Given the description of an element on the screen output the (x, y) to click on. 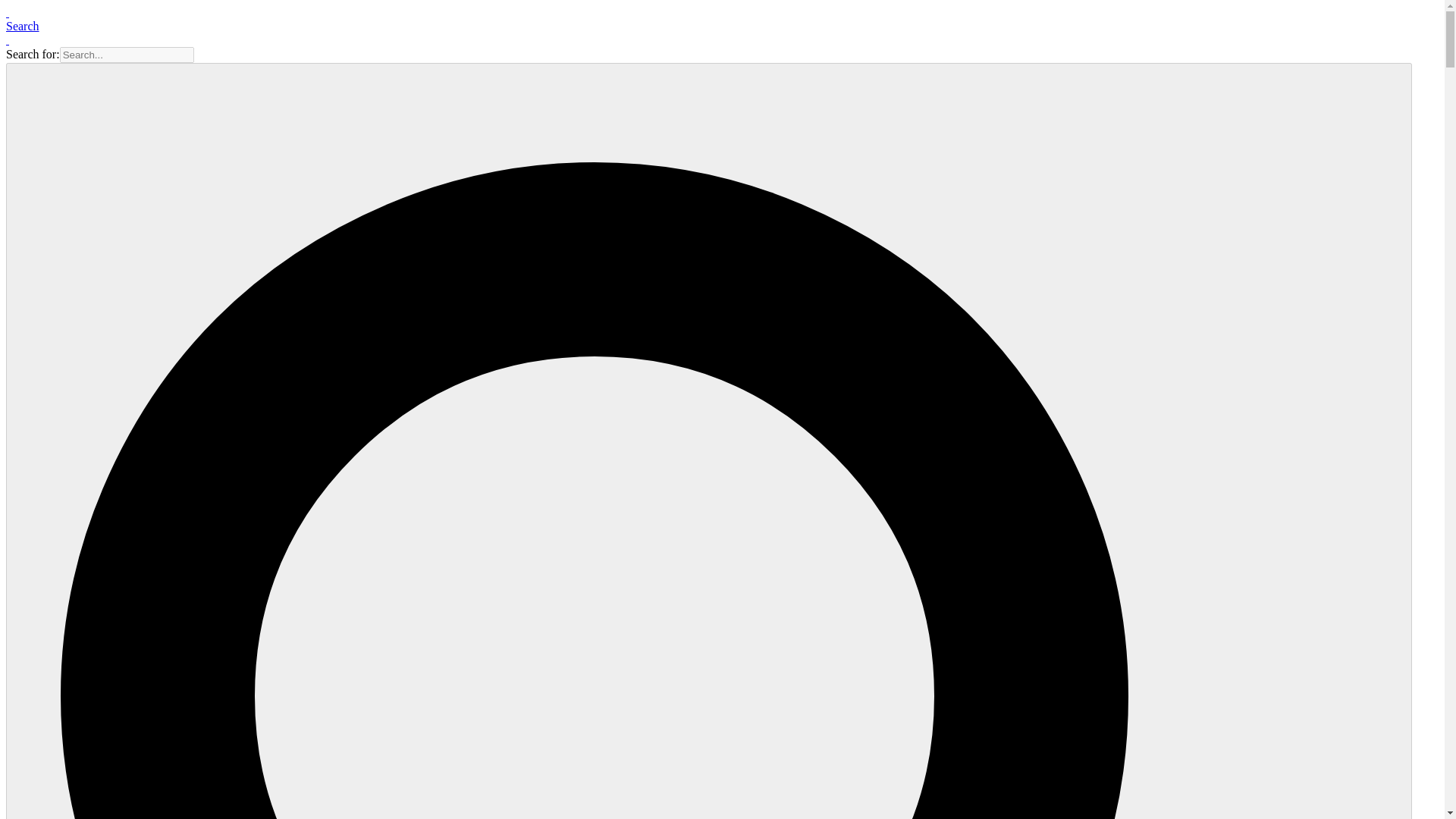
Search (22, 25)
Search for: (126, 54)
